Given the description of an element on the screen output the (x, y) to click on. 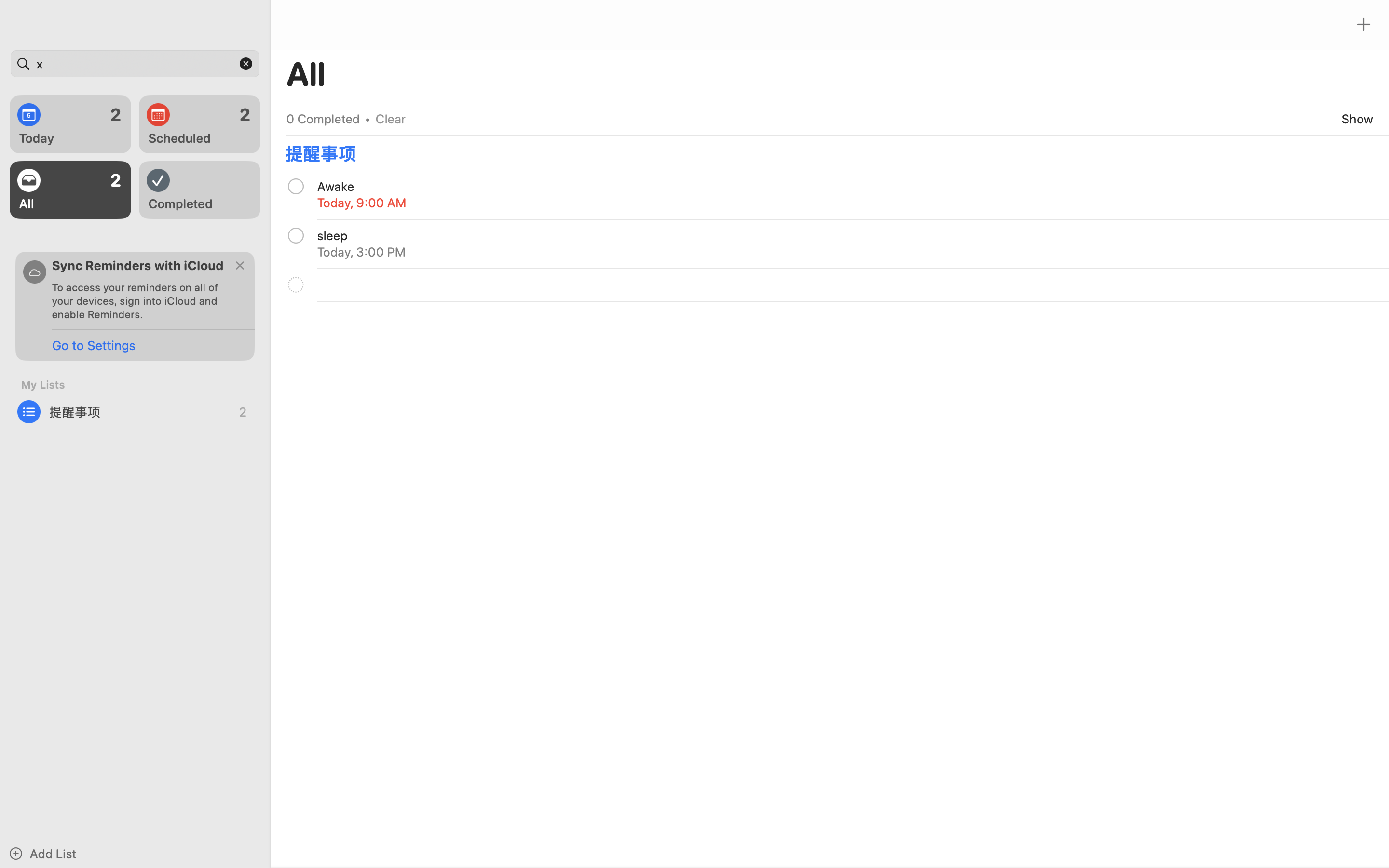
Sync Reminders with iCloud Element type: AXStaticText (137, 264)
x Element type: AXTextField (134, 63)
Today, 9:00 AM Element type: AXStaticText (361, 202)
0 Completed Element type: AXStaticText (322, 118)
